Given the description of an element on the screen output the (x, y) to click on. 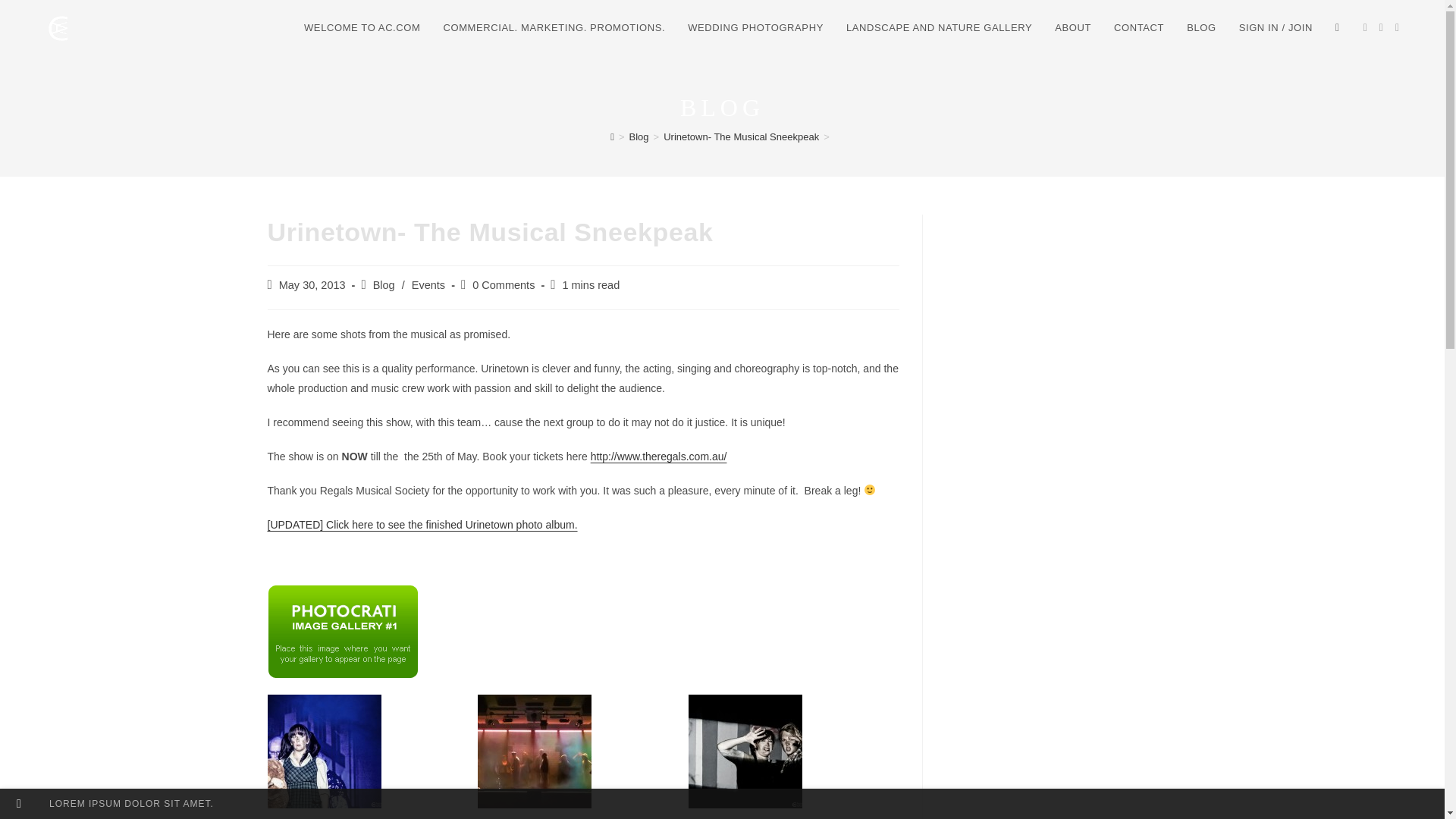
Urinetown- The Musical Sneekpeak (740, 136)
WELCOME TO AC.COM (361, 28)
CONTACT (1138, 28)
ABOUT (1072, 28)
Urinetown the musical - Regals musical society (421, 524)
Blog (383, 285)
0 Comments (502, 285)
COMMERCIAL. MARKETING. PROMOTIONS. (553, 28)
The Regals Musical Society Website (658, 456)
Events (428, 285)
BLOG (1200, 28)
WEDDING PHOTOGRAPHY (755, 28)
Blog (638, 136)
LANDSCAPE AND NATURE GALLERY (938, 28)
